Given the description of an element on the screen output the (x, y) to click on. 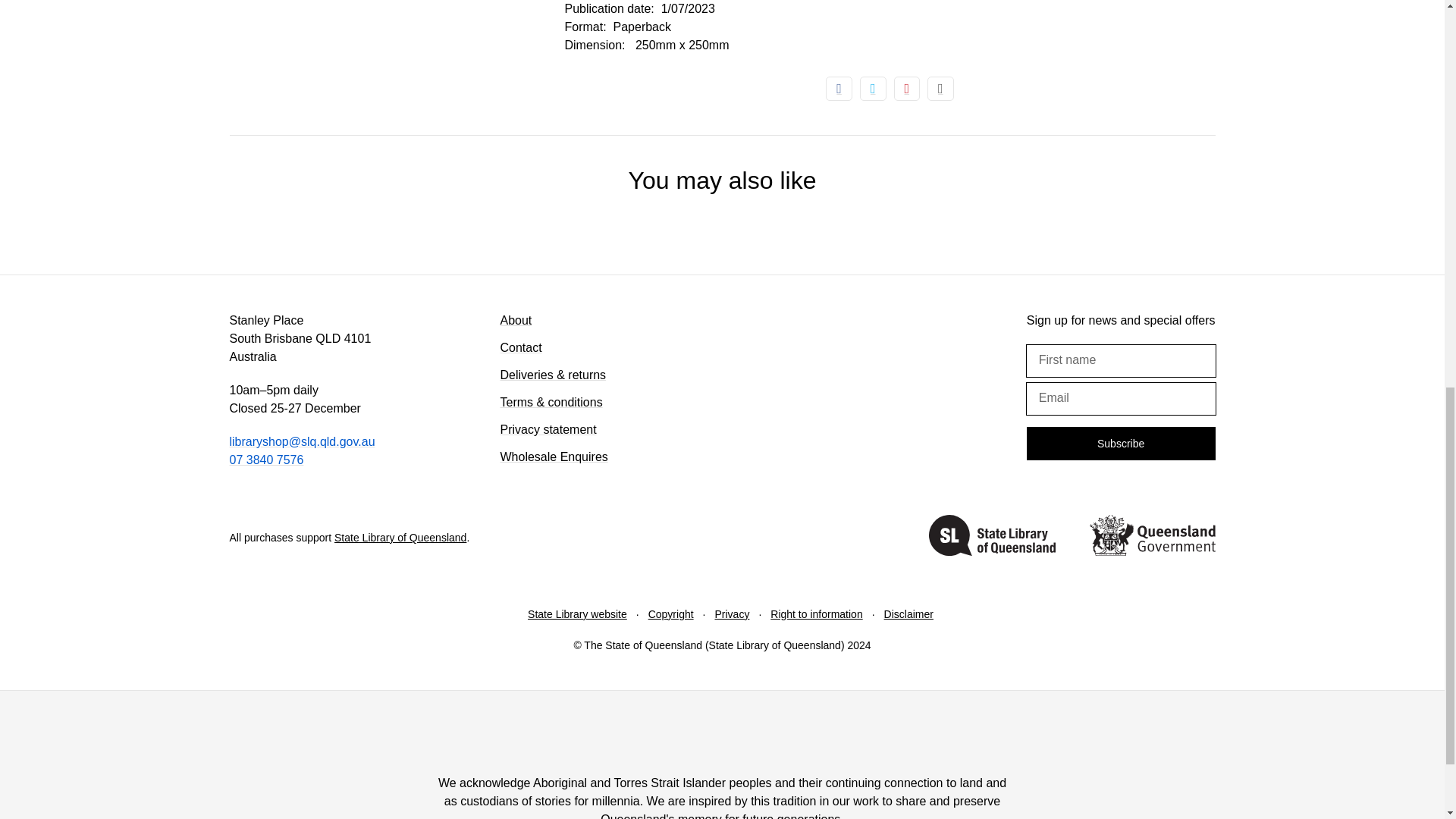
Go to Queensland Government homepage (1151, 538)
tel:07 3840 7576 (265, 459)
Go to Queensland State Library homepage (992, 538)
